Given the description of an element on the screen output the (x, y) to click on. 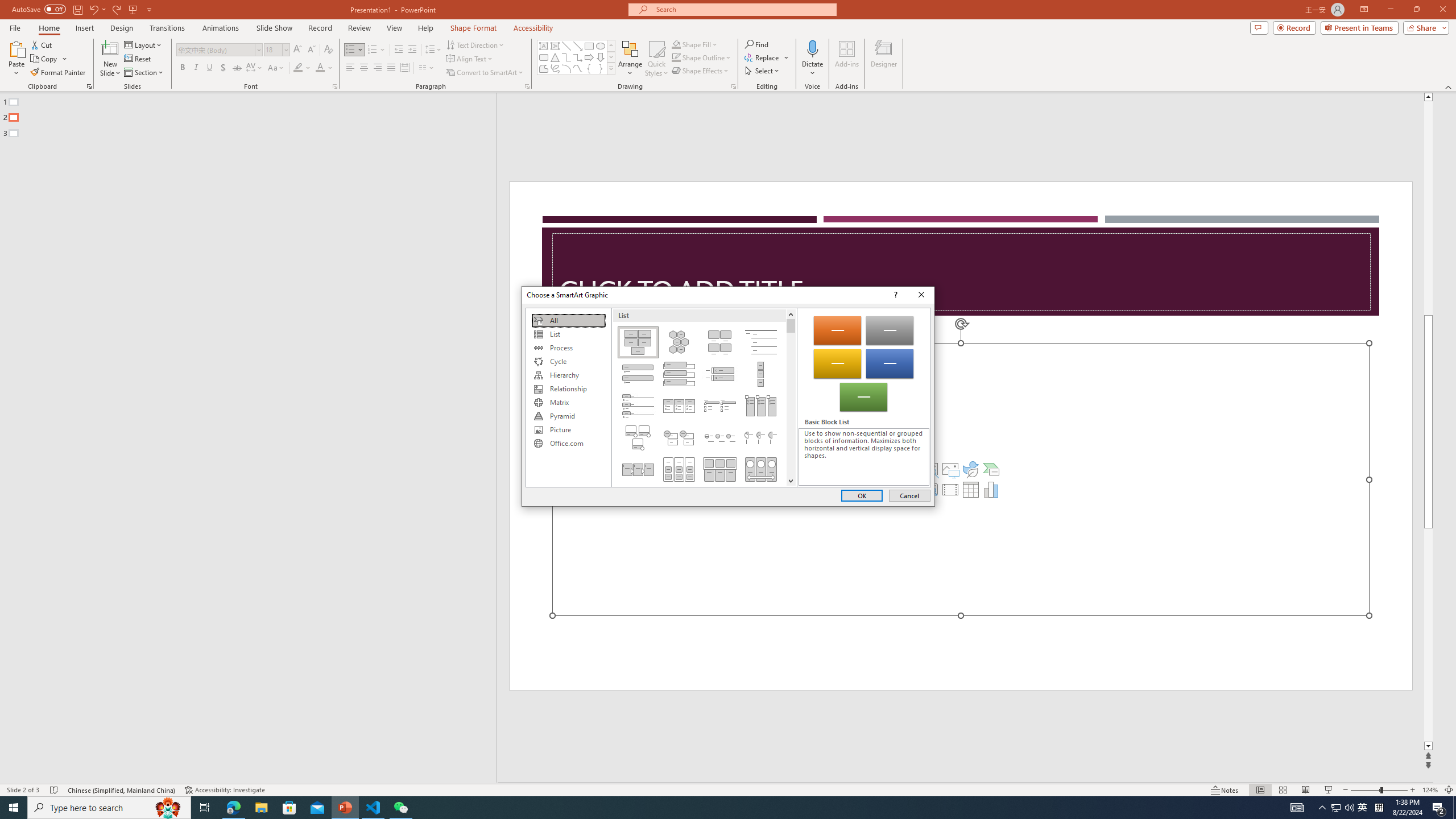
All (568, 320)
Grouped List (678, 469)
